Given the description of an element on the screen output the (x, y) to click on. 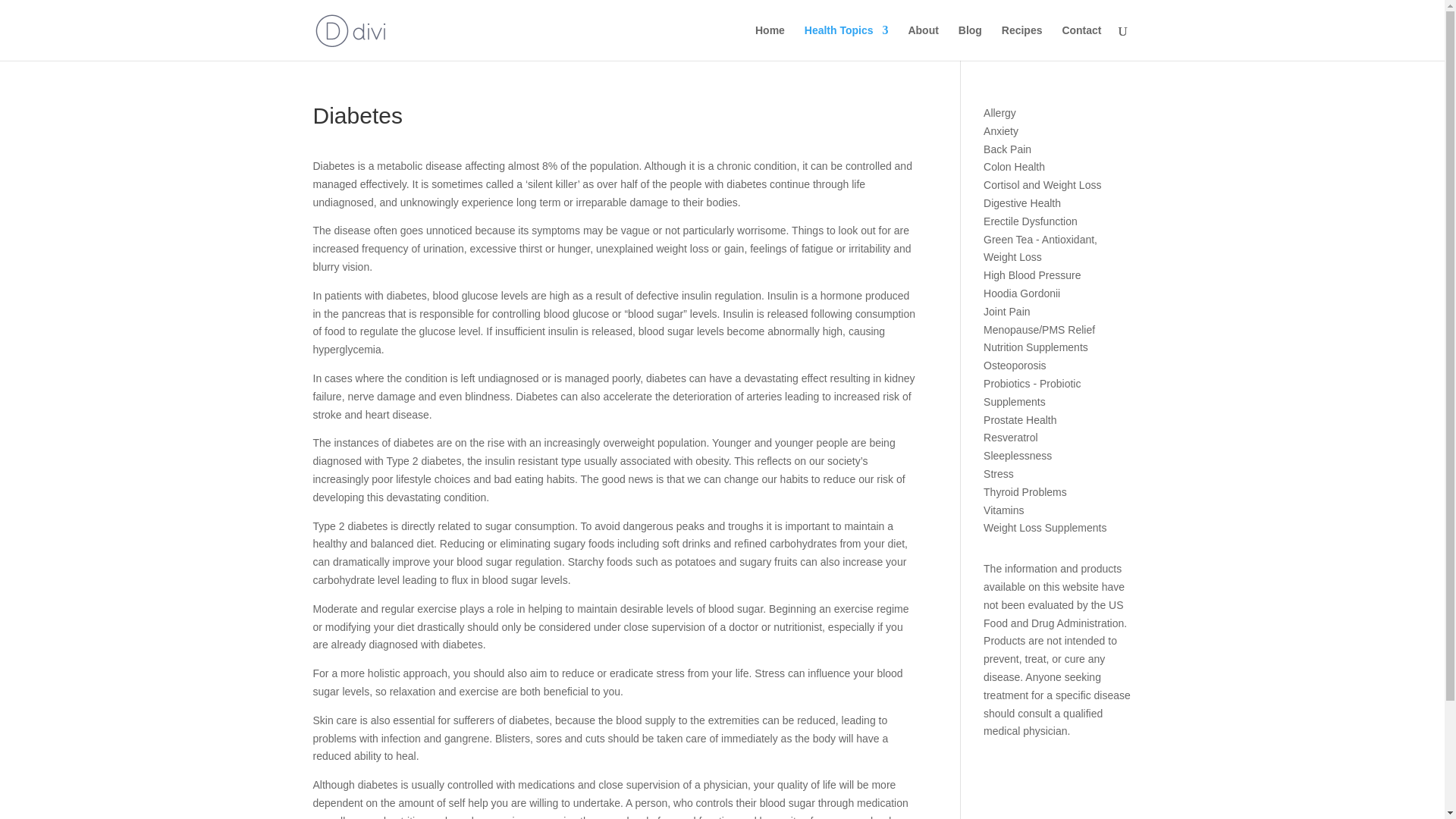
Contact (1080, 42)
Recipes (1021, 42)
Health Topics (846, 42)
Home (769, 42)
About (922, 42)
Blog (969, 42)
